Given the description of an element on the screen output the (x, y) to click on. 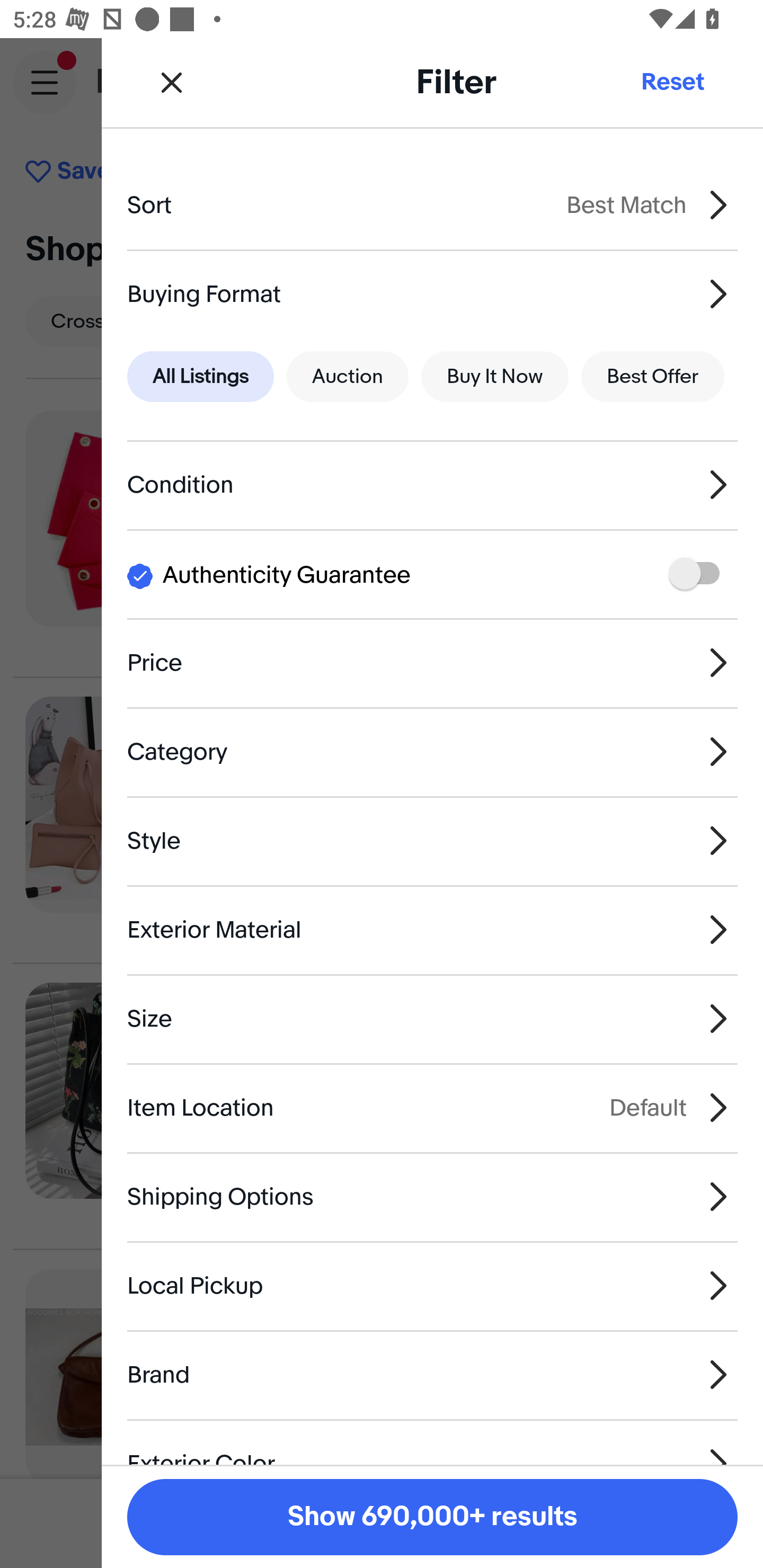
Close Filter (171, 81)
Reset (672, 81)
Buying Format (432, 293)
All Listings (200, 376)
Auction (347, 376)
Buy It Now (494, 376)
Best Offer (652, 376)
Condition (432, 484)
I  Authenticity Guarantee (432, 573)
Price (432, 662)
Category (432, 751)
Style (432, 840)
Exterior Material (432, 929)
Size (432, 1018)
Item Location Default (432, 1107)
Shipping Options (432, 1196)
Local Pickup (432, 1285)
Brand (432, 1374)
Show 690,000+ results (432, 1516)
